Given the description of an element on the screen output the (x, y) to click on. 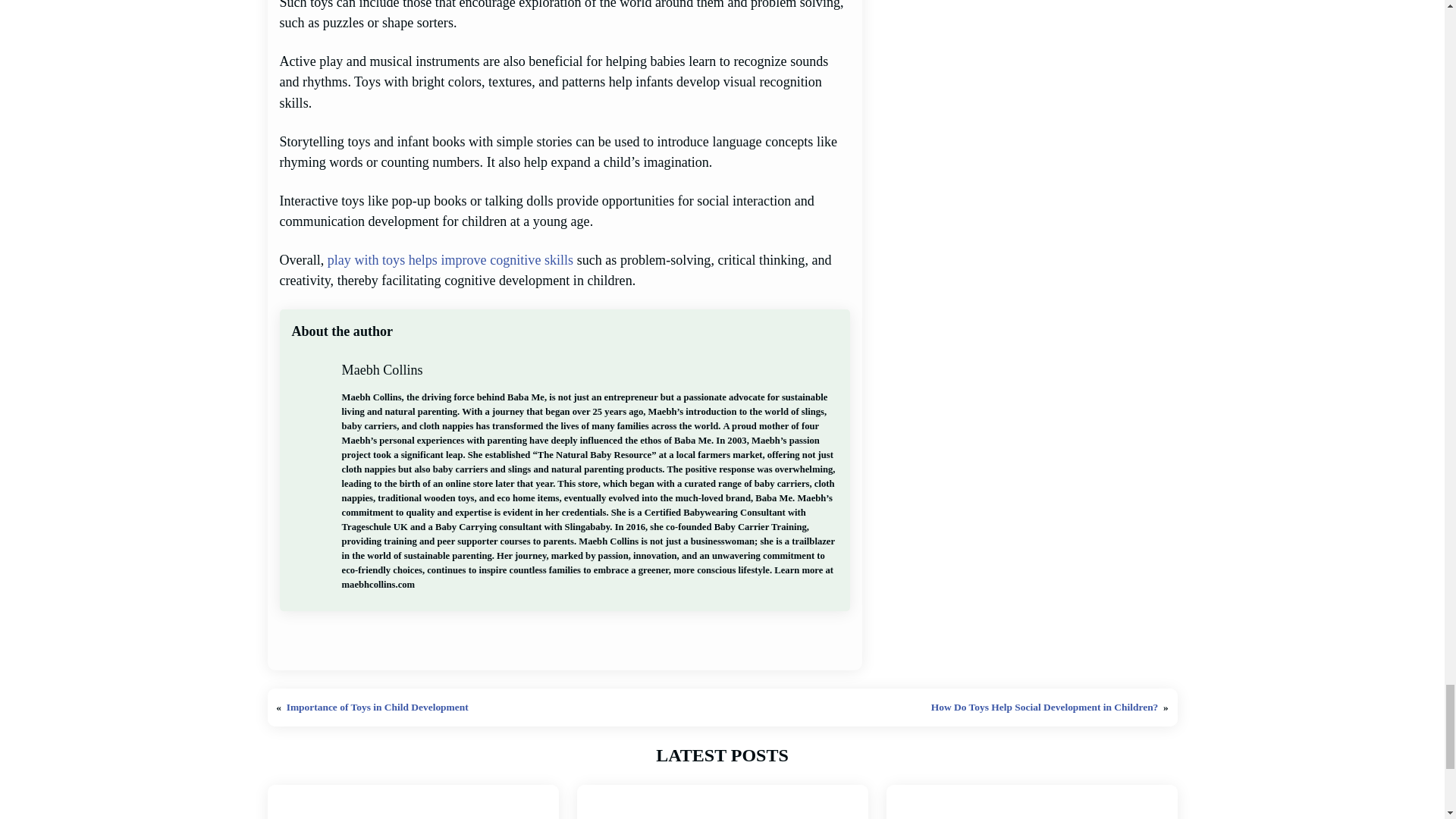
play with toys helps improve cognitive skills (450, 259)
